Given the description of an element on the screen output the (x, y) to click on. 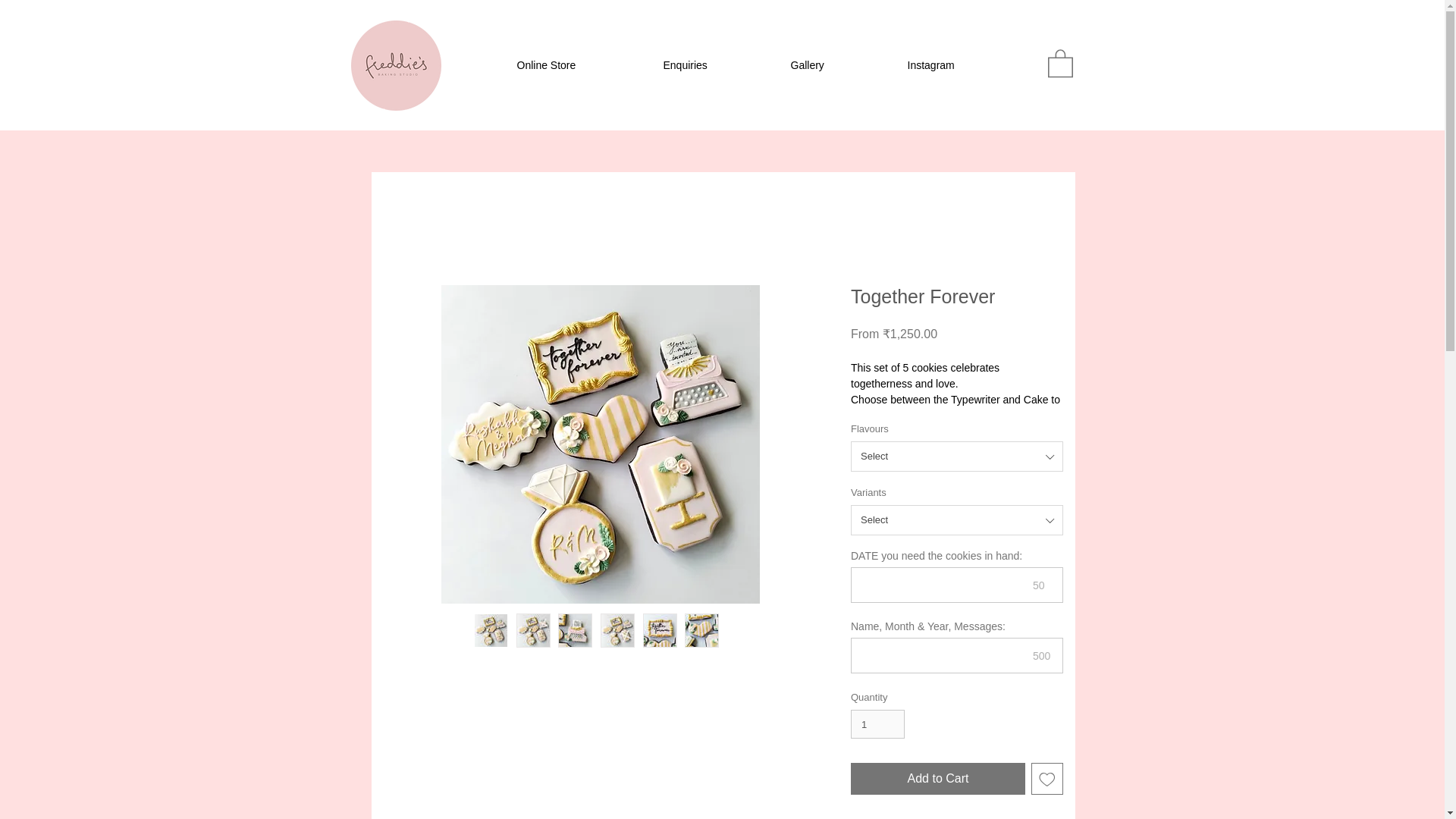
Enquiries (715, 65)
1 (877, 724)
Select (956, 456)
Select (956, 520)
Add to Cart (937, 778)
Gallery (837, 65)
Instagram (964, 65)
